Given the description of an element on the screen output the (x, y) to click on. 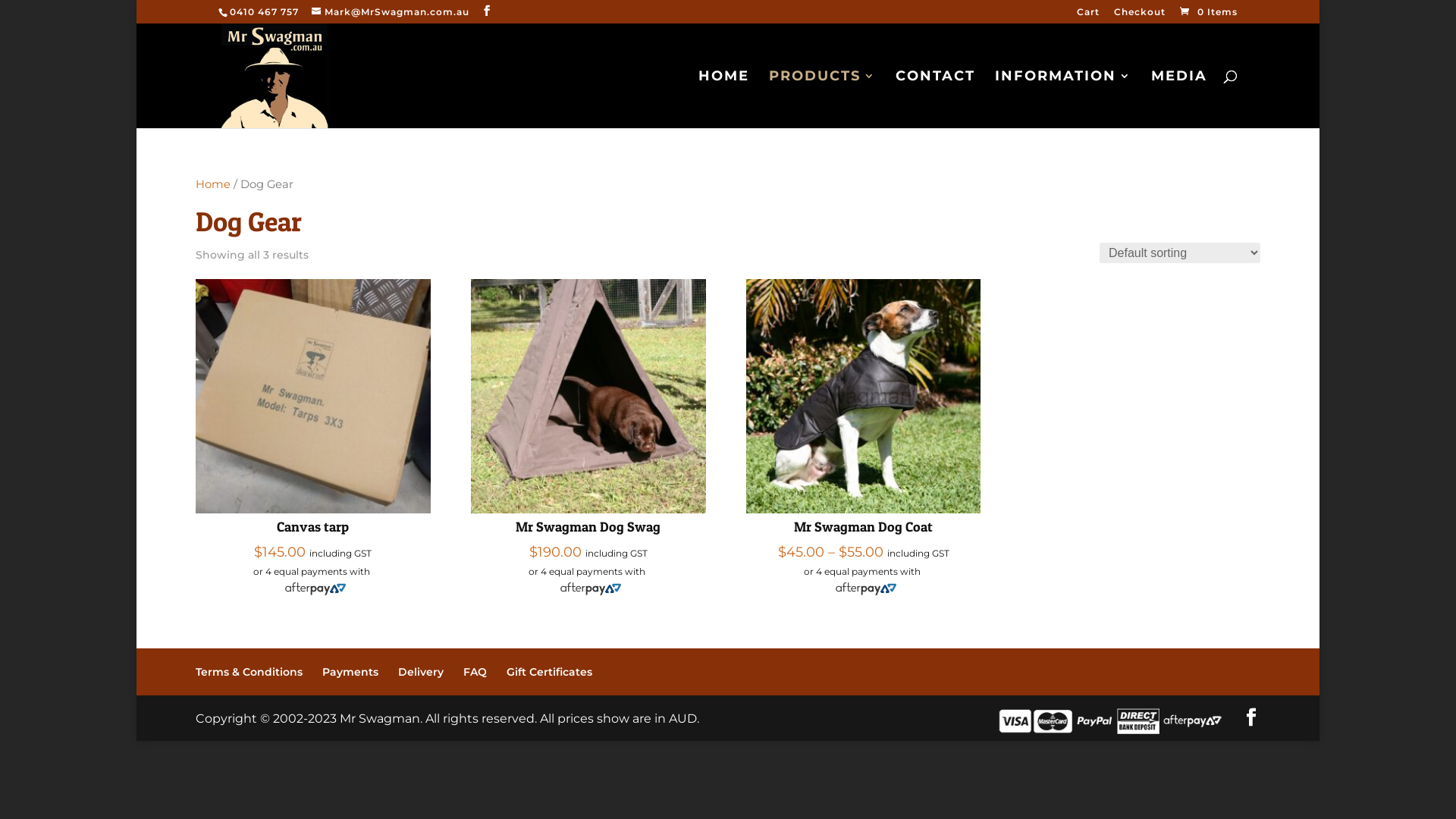
Cart Element type: text (1087, 15)
PRODUCTS Element type: text (821, 99)
INFORMATION Element type: text (1062, 99)
Terms & Conditions Element type: text (248, 671)
HOME Element type: text (723, 99)
0 Items Element type: text (1206, 11)
Canvas tarp
$145.00 including GST
or 4 equal payments with  Element type: text (312, 435)
Mark@MrSwagman.com.au Element type: text (390, 11)
Gift Certificates Element type: text (549, 671)
CONTACT Element type: text (935, 99)
Payments Element type: text (350, 671)
FAQ Element type: text (474, 671)
Delivery Element type: text (420, 671)
Home Element type: text (212, 184)
MEDIA Element type: text (1179, 99)
Checkout Element type: text (1139, 15)
